Given the description of an element on the screen output the (x, y) to click on. 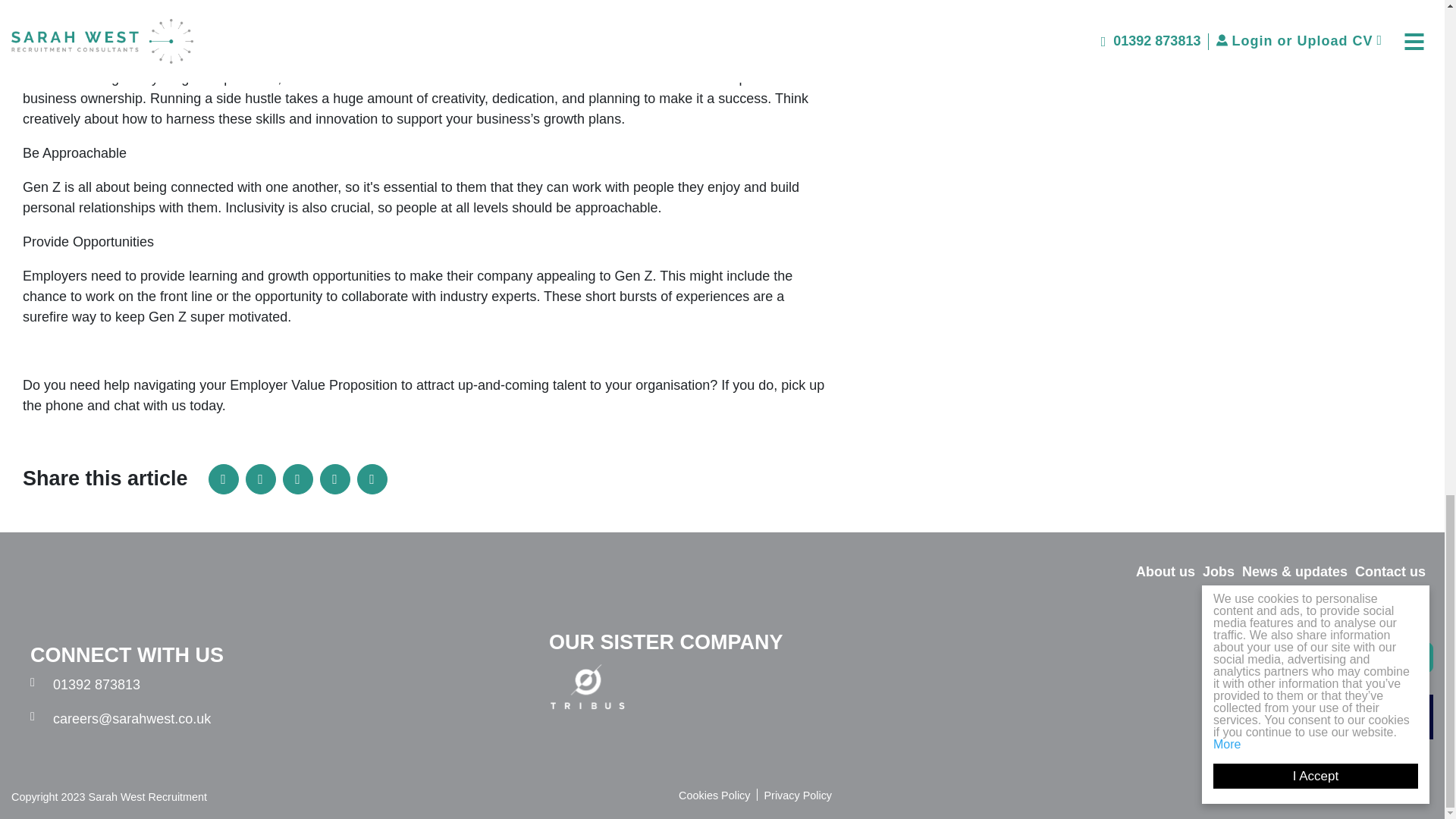
About us (1165, 571)
LinkedIn (223, 479)
Contact us (1390, 571)
Jobs (1218, 571)
Email (335, 479)
Facebook (261, 479)
Whatsapp (371, 479)
Twitter (297, 479)
